Given the description of an element on the screen output the (x, y) to click on. 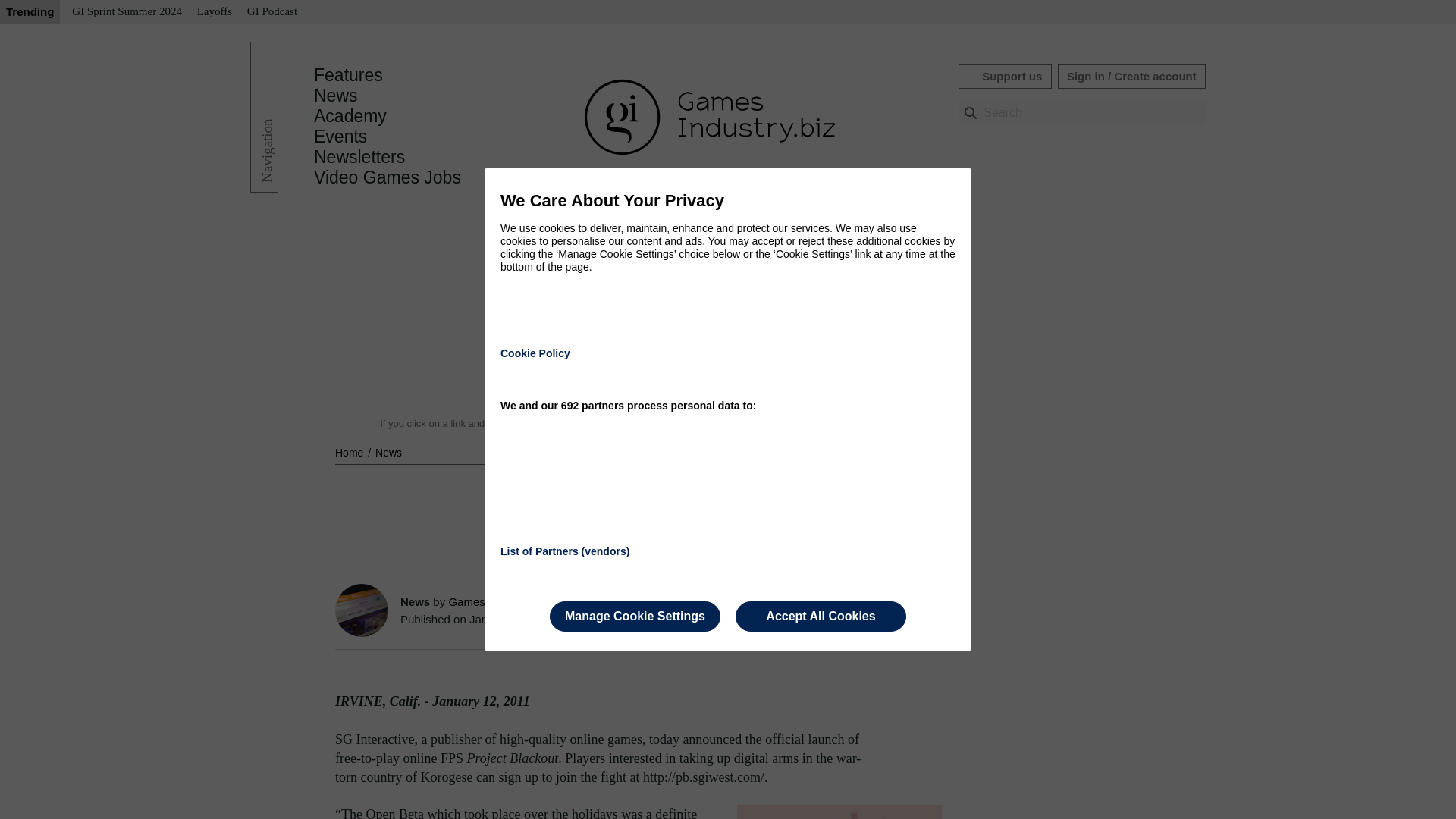
Support us (1004, 75)
News (388, 452)
Academy (350, 116)
Events (340, 136)
Video Games Jobs (387, 177)
News (336, 95)
GI Podcast (271, 11)
GI Sprint Summer 2024 (126, 11)
Home (350, 452)
Newsletters (359, 157)
Features (348, 75)
Features (348, 75)
GI Sprint Summer 2024 (126, 11)
Home (350, 452)
Layoffs (214, 11)
